Given the description of an element on the screen output the (x, y) to click on. 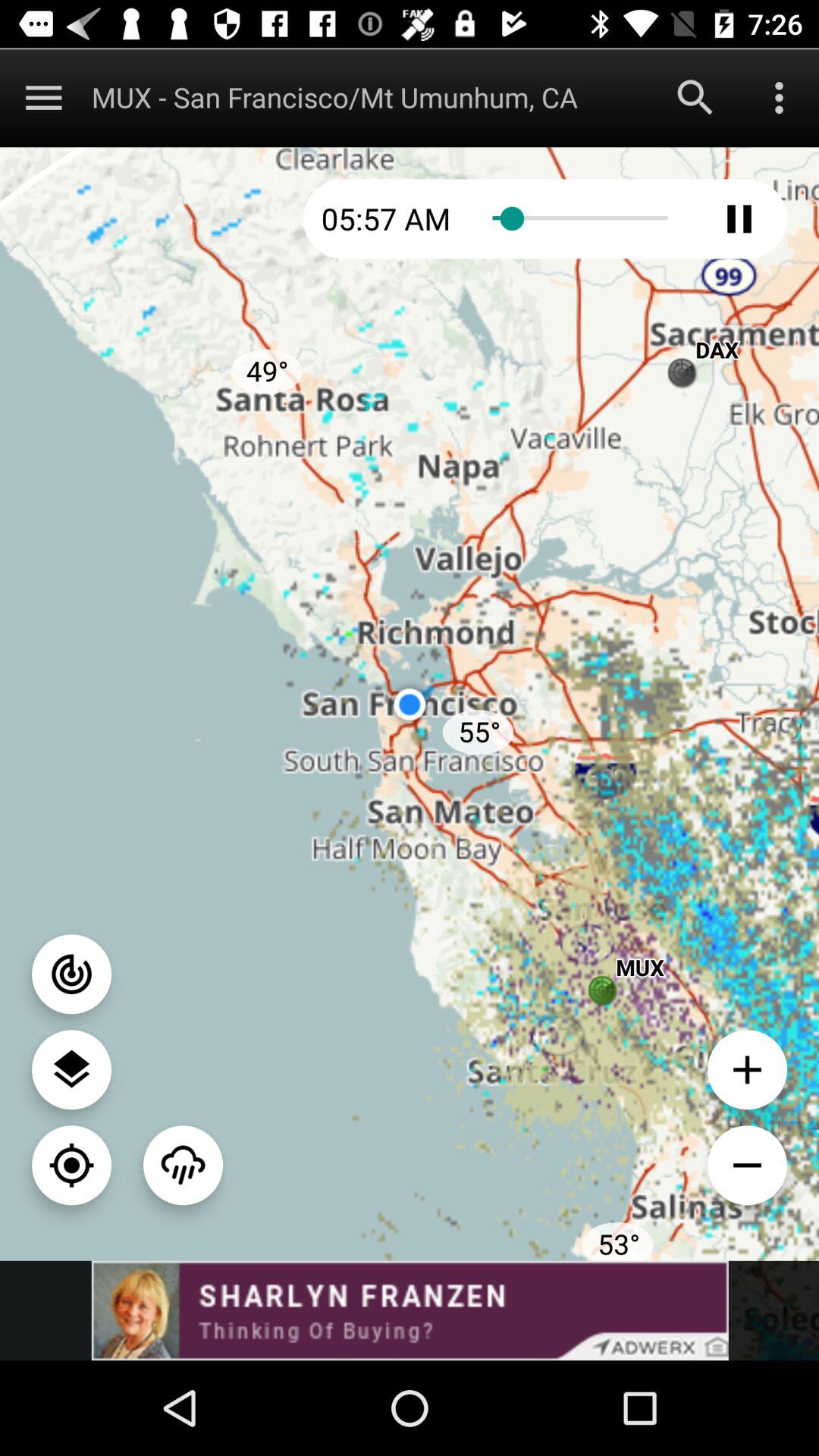
zoom in option (747, 1069)
